Given the description of an element on the screen output the (x, y) to click on. 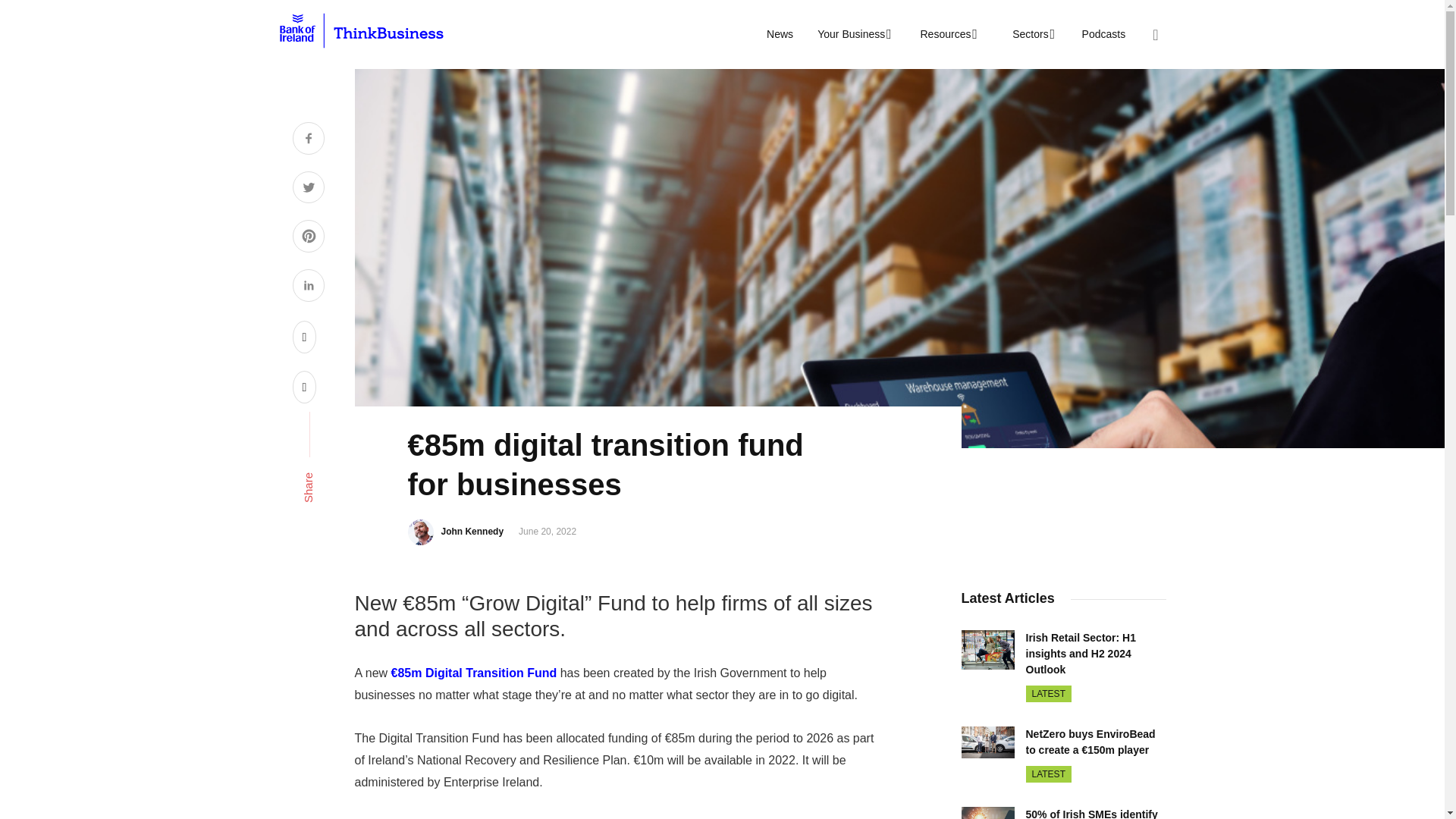
Share on Pinterest (308, 238)
Share via email (304, 387)
Share on Facebook (308, 140)
Resources (946, 34)
Share on Reddit (304, 337)
June 20, 2022 at 1:17 pm (547, 531)
Share on Twitter (308, 189)
Share on Linkedin (308, 287)
Your Business (852, 34)
